Given the description of an element on the screen output the (x, y) to click on. 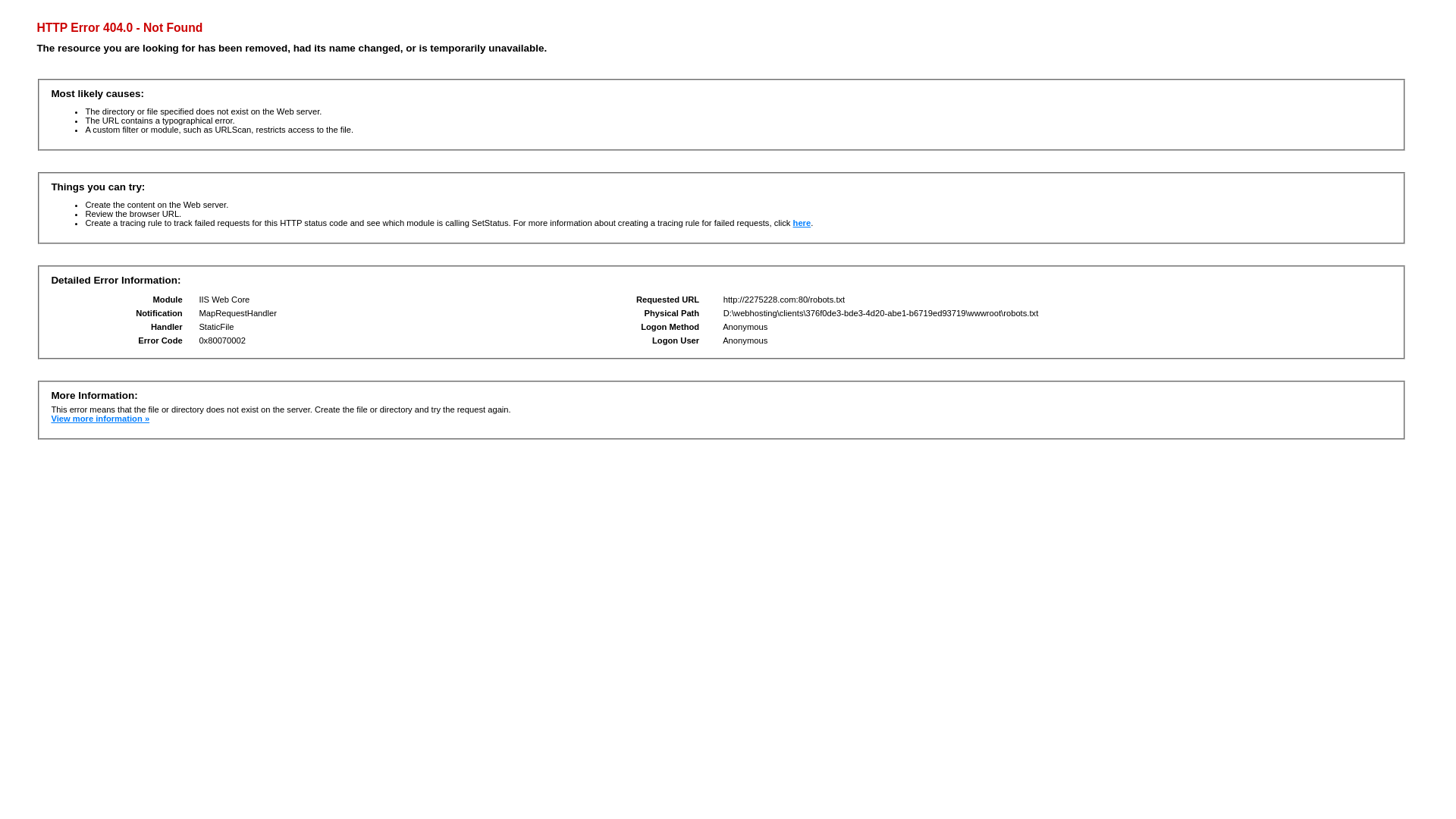
here Element type: text (802, 222)
